Given the description of an element on the screen output the (x, y) to click on. 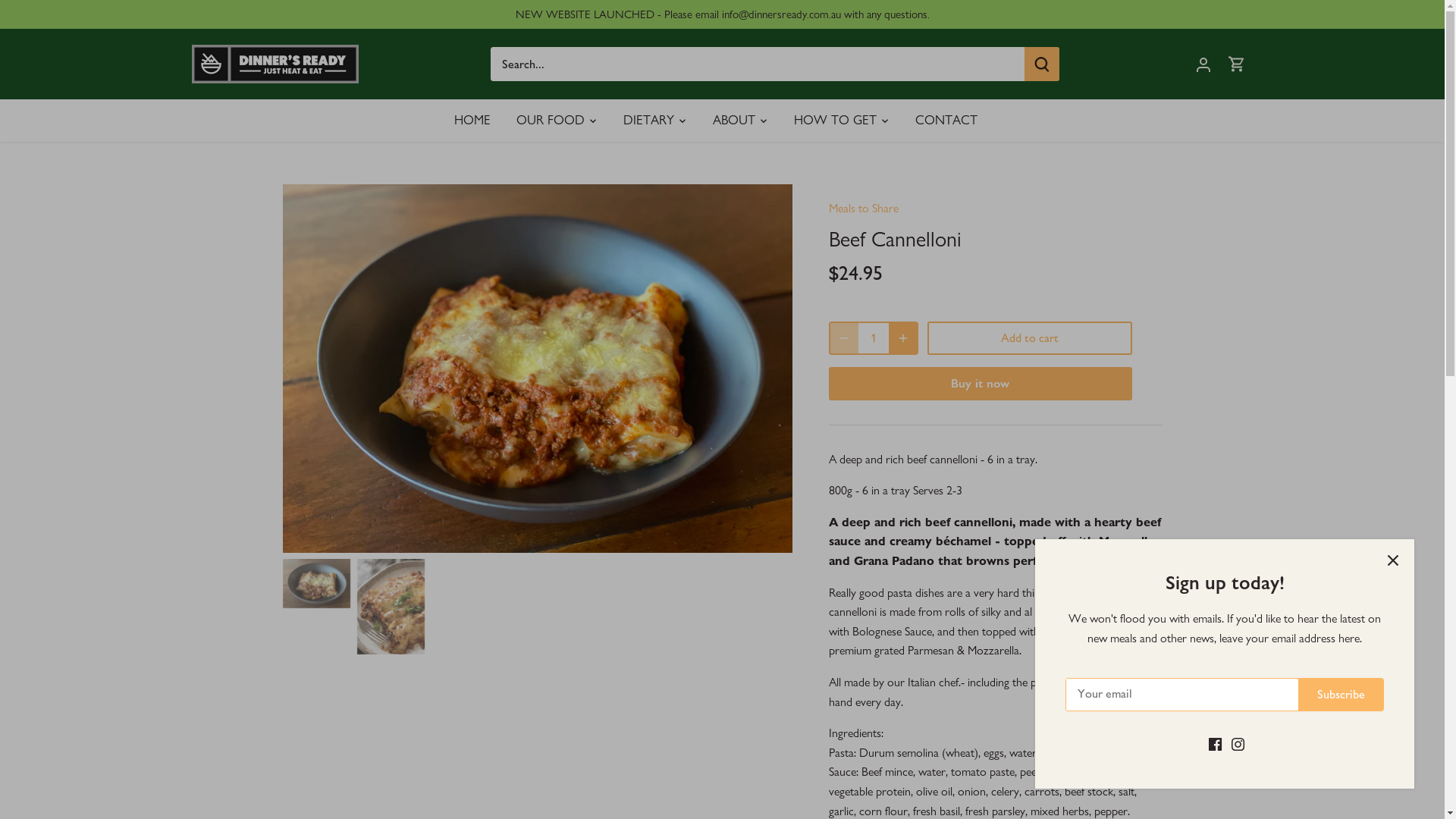
Add to cart Element type: text (1028, 337)
Buy it now Element type: text (979, 383)
HOW TO GET Element type: text (835, 120)
CONTACT Element type: text (946, 120)
HOME Element type: text (478, 120)
OUR FOOD Element type: text (550, 120)
DIETARY Element type: text (648, 120)
Meals to Share Element type: text (862, 207)
ABOUT Element type: text (733, 120)
Go to cart Element type: hover (1235, 63)
